Given the description of an element on the screen output the (x, y) to click on. 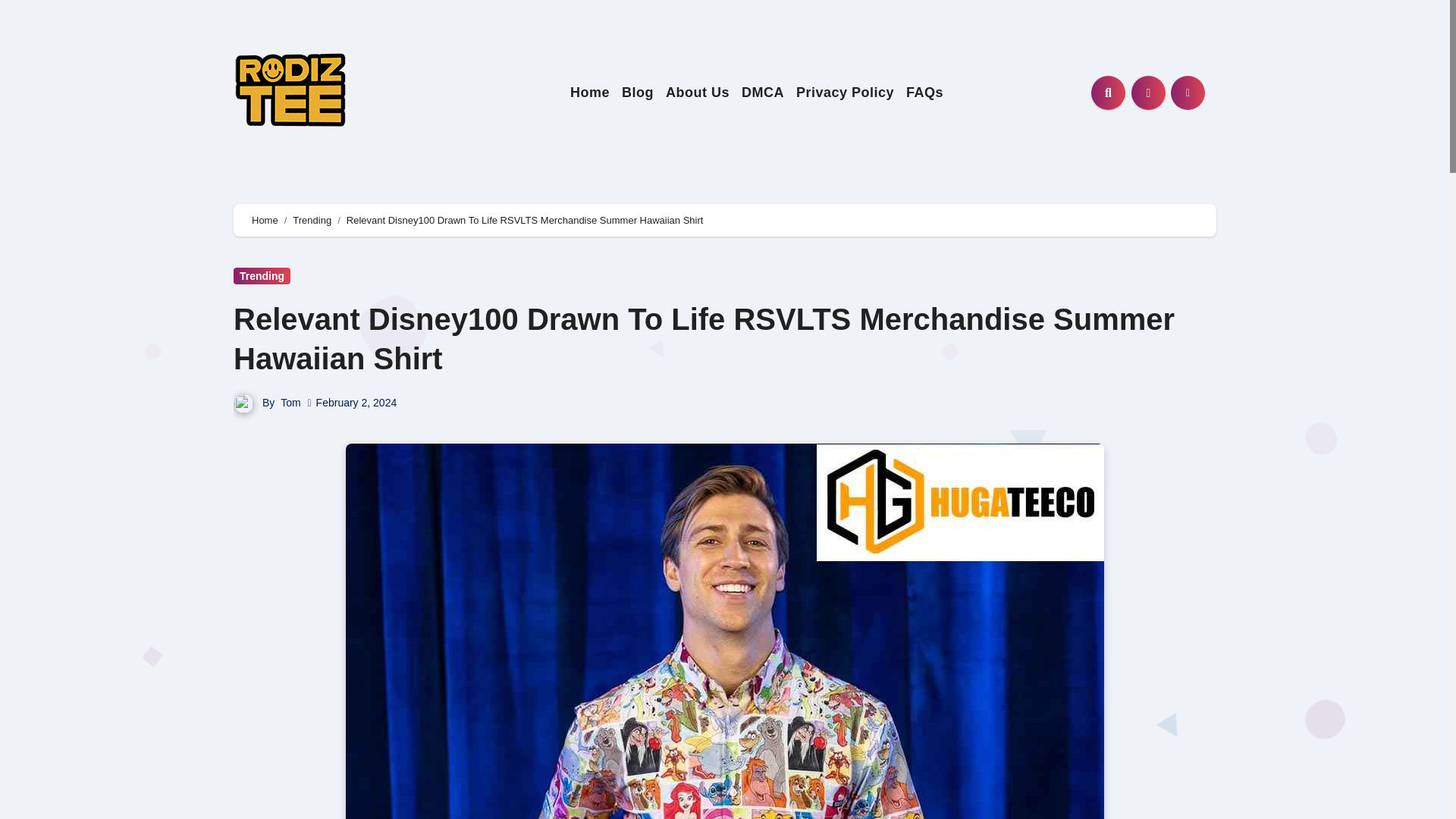
Home (589, 92)
Blog (637, 92)
About Us (697, 92)
About Us (697, 92)
Trending (311, 220)
FAQs (924, 92)
February 2, 2024 (356, 402)
Home (589, 92)
DMCA (762, 92)
